Given the description of an element on the screen output the (x, y) to click on. 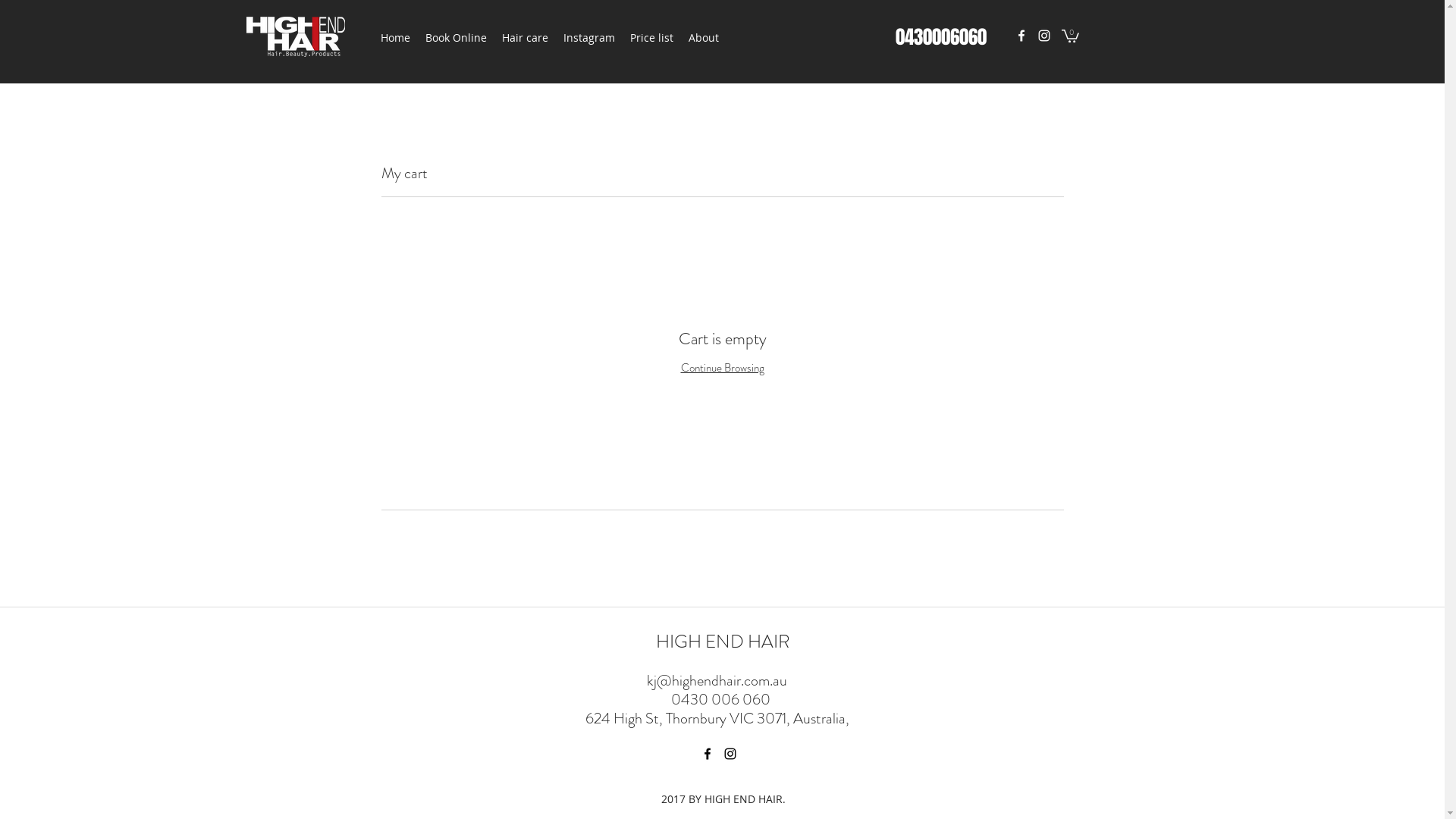
Continue Browsing Element type: text (722, 367)
0 Element type: text (1070, 35)
kj@highendhair.com.au Element type: text (716, 680)
Hair care Element type: text (524, 37)
About Element type: text (703, 37)
Book Online Element type: text (455, 37)
Instagram Element type: text (588, 37)
Price list Element type: text (650, 37)
Home Element type: text (395, 37)
